Given the description of an element on the screen output the (x, y) to click on. 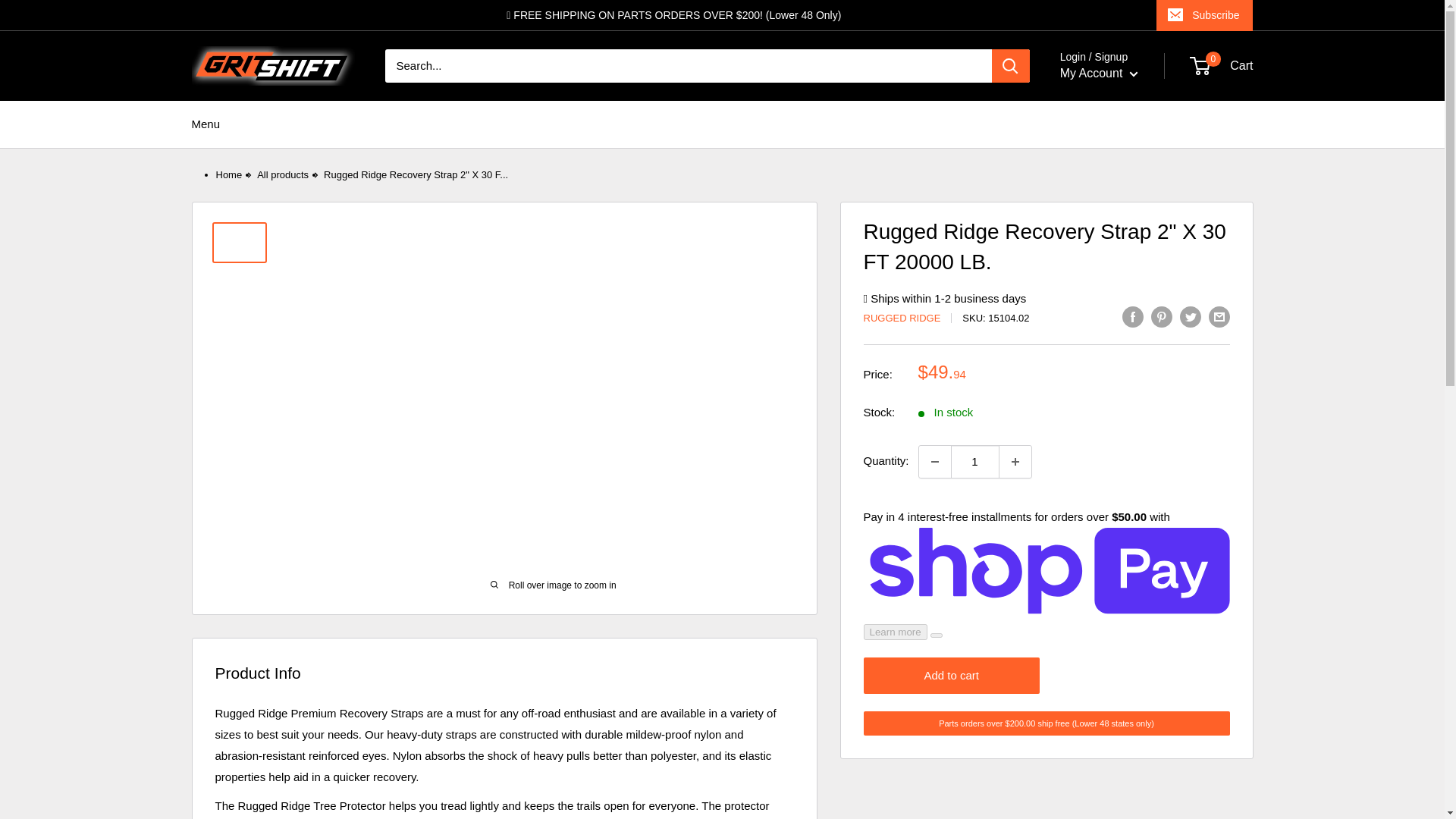
RUGGED RIDGE (901, 317)
Home (228, 174)
1 (974, 461)
Subscribe (1204, 15)
My Account (1098, 73)
Decrease quantity by 1 (934, 461)
Increase quantity by 1 (1014, 461)
All products (282, 174)
Menu (204, 124)
